Given the description of an element on the screen output the (x, y) to click on. 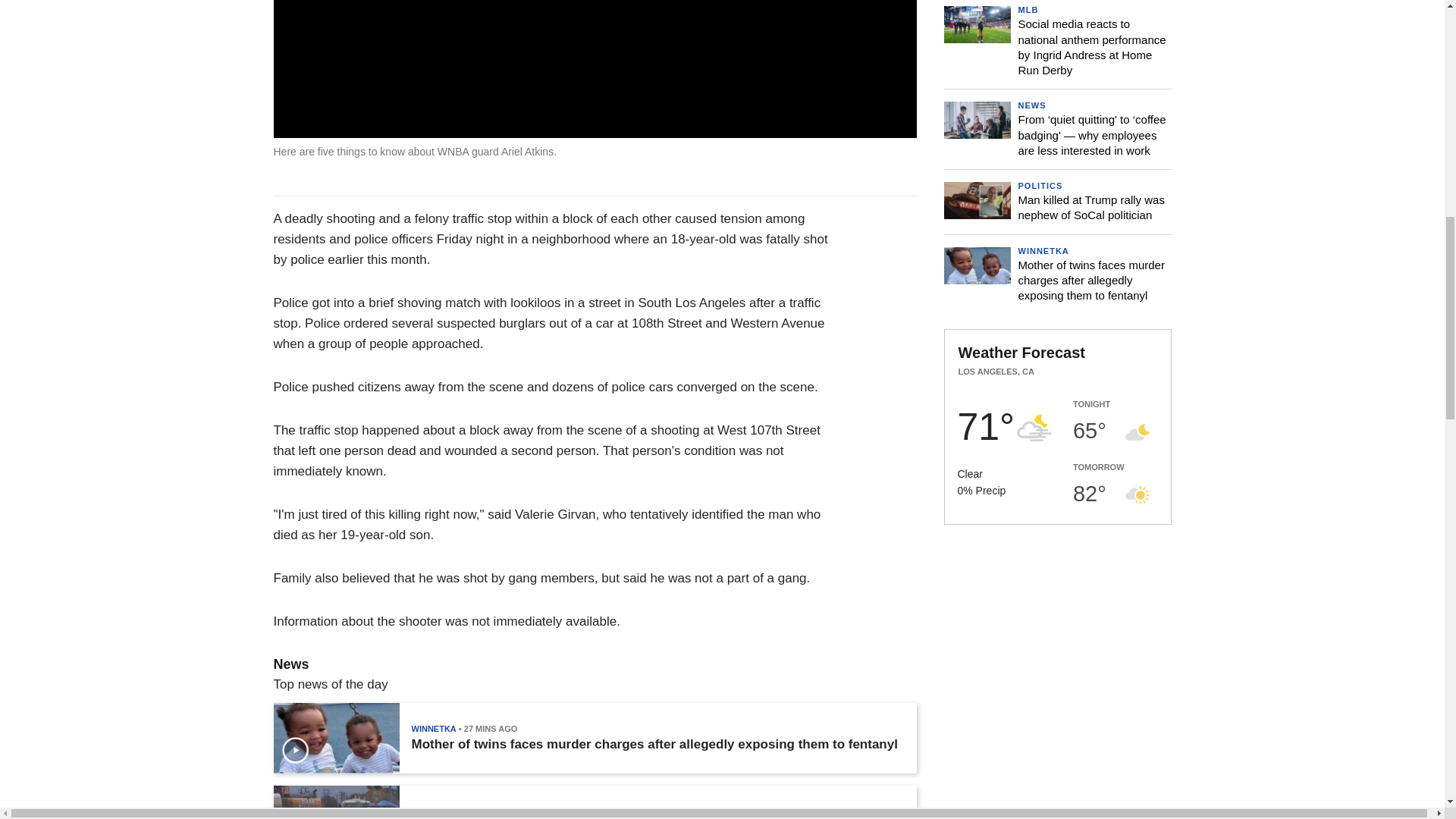
SAN BERNARDINO COUNTY (467, 810)
WINNETKA (432, 728)
